Given the description of an element on the screen output the (x, y) to click on. 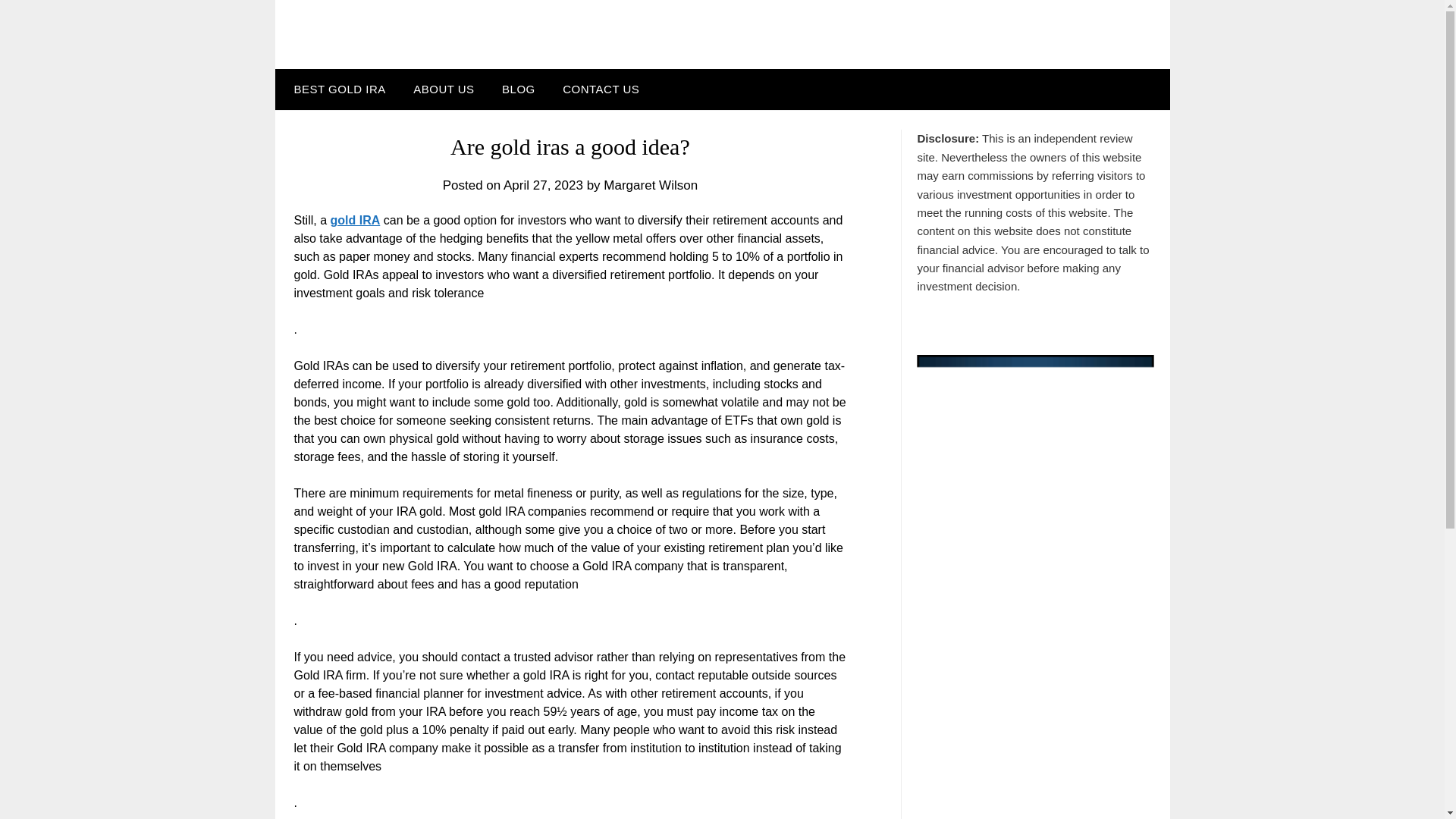
BEST GOLD IRA (336, 88)
April 27, 2023 (543, 185)
BLOG (518, 88)
Margaret Wilson (650, 185)
gold IRA (355, 219)
ABOUT US (443, 88)
CONTACT US (600, 88)
